Given the description of an element on the screen output the (x, y) to click on. 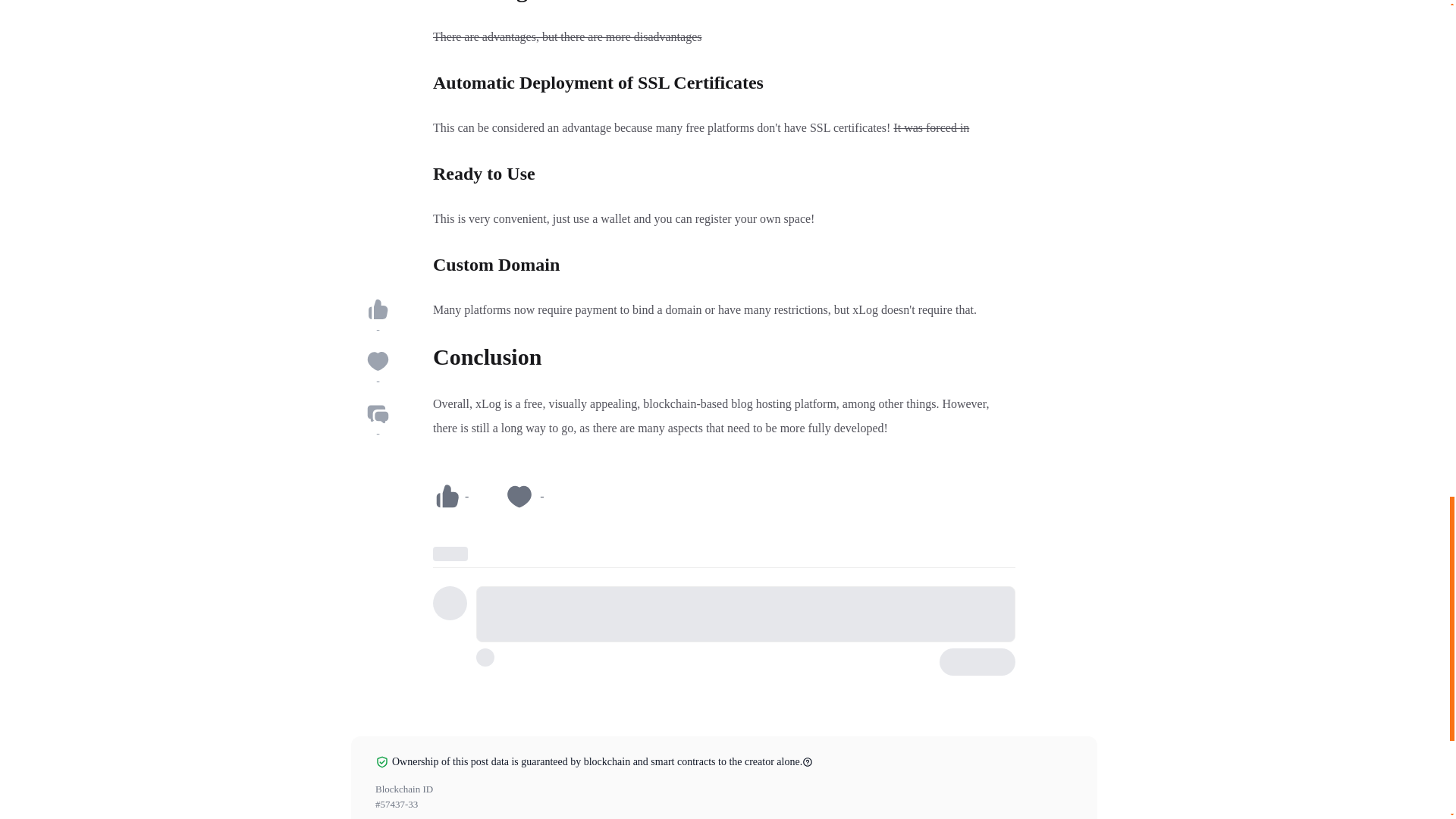
- (524, 496)
- (450, 496)
